Given the description of an element on the screen output the (x, y) to click on. 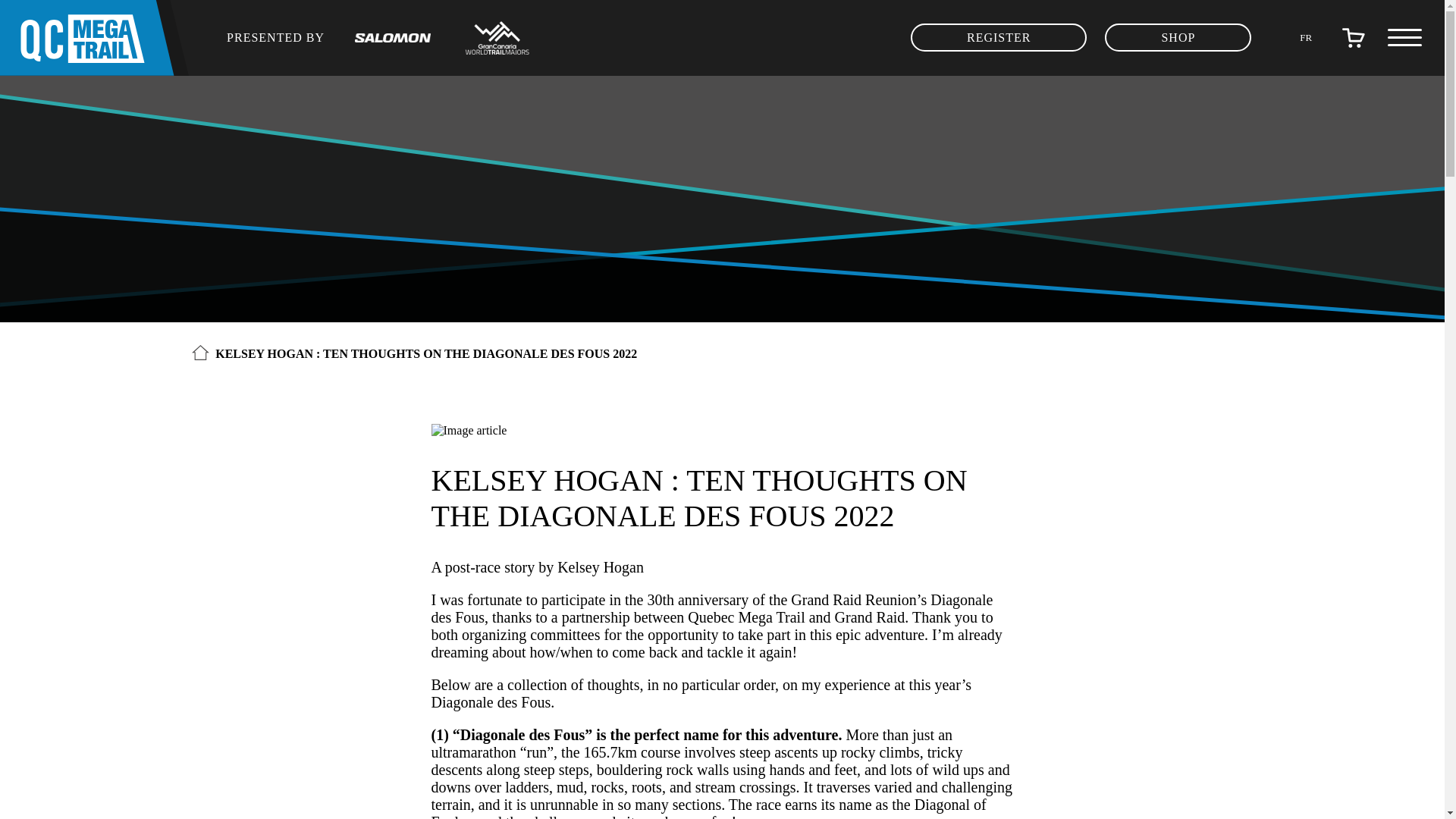
FR (1306, 36)
Page 1 (721, 747)
REGISTER (998, 37)
SHOP (1177, 37)
